Given the description of an element on the screen output the (x, y) to click on. 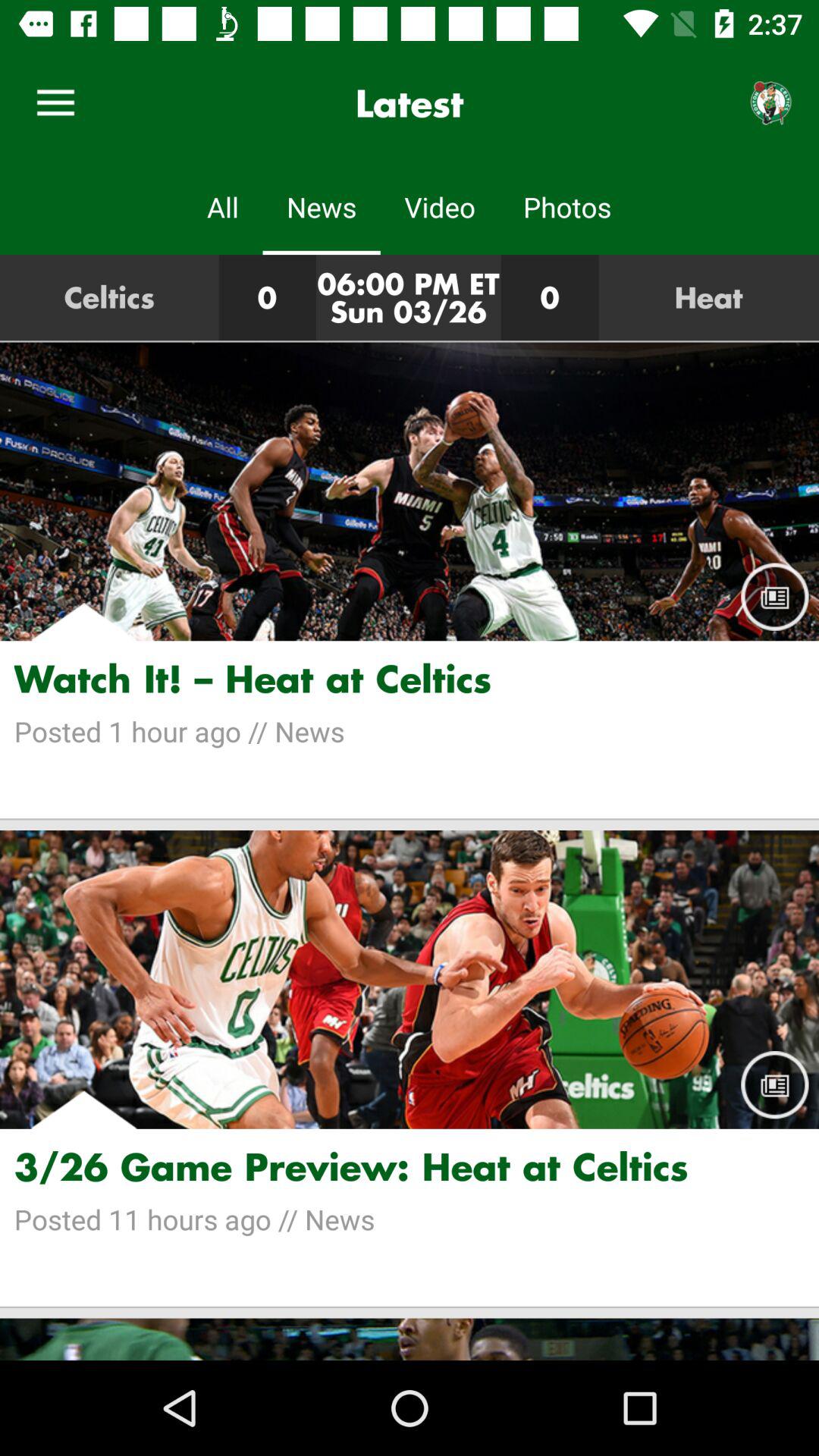
tap the item to the right of latest icon (771, 103)
